Given the description of an element on the screen output the (x, y) to click on. 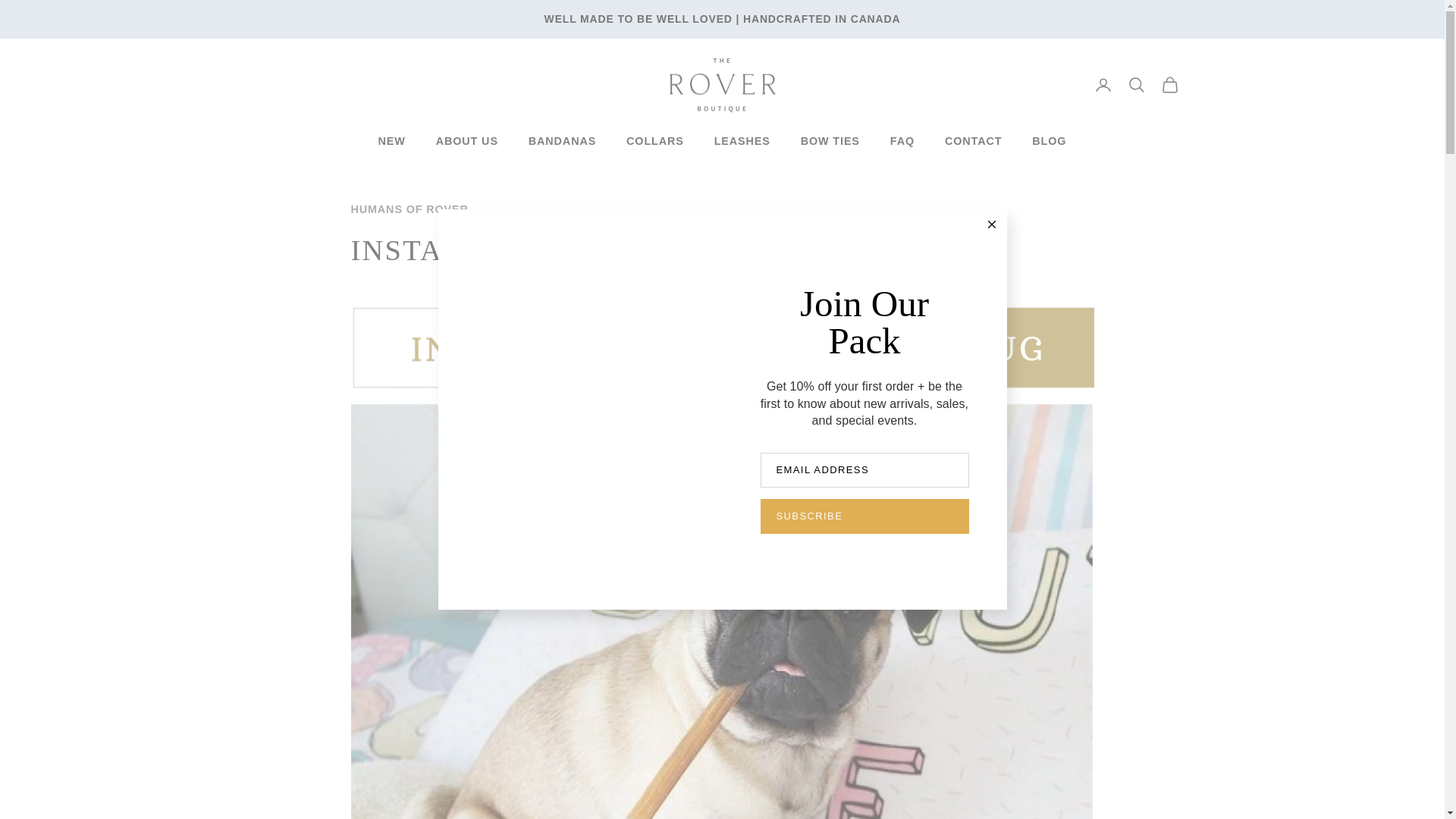
Open account page (1102, 85)
The Rover Boutique (721, 85)
HUMANS OF ROVER (408, 208)
BOW TIES (830, 140)
BLOG (1048, 140)
ABOUT US (466, 140)
BANDANAS (561, 140)
CONTACT (972, 140)
Open cart (1168, 85)
NEW (392, 140)
Open search (1135, 85)
